Given the description of an element on the screen output the (x, y) to click on. 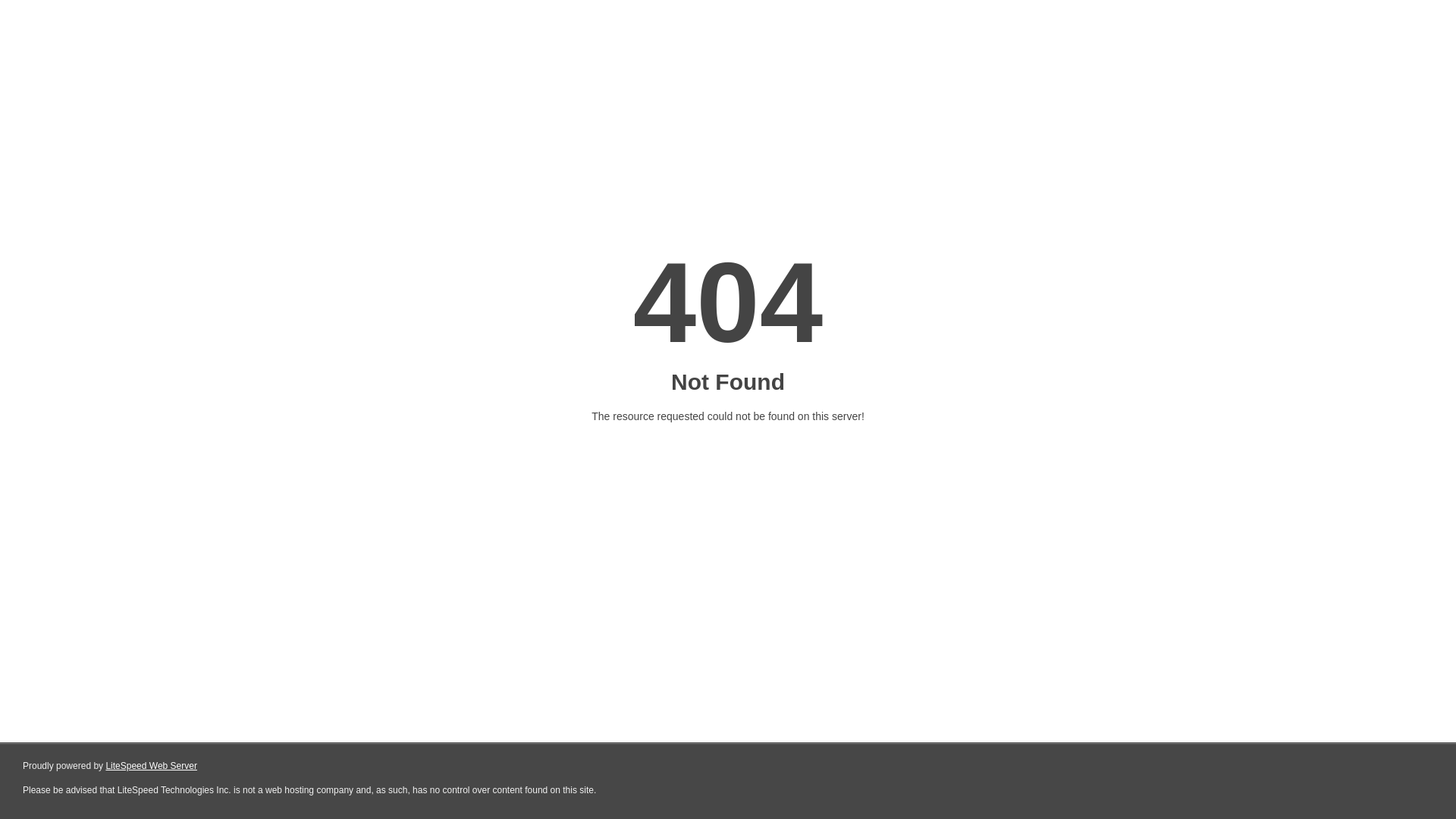
LiteSpeed Web Server Element type: text (151, 765)
